Given the description of an element on the screen output the (x, y) to click on. 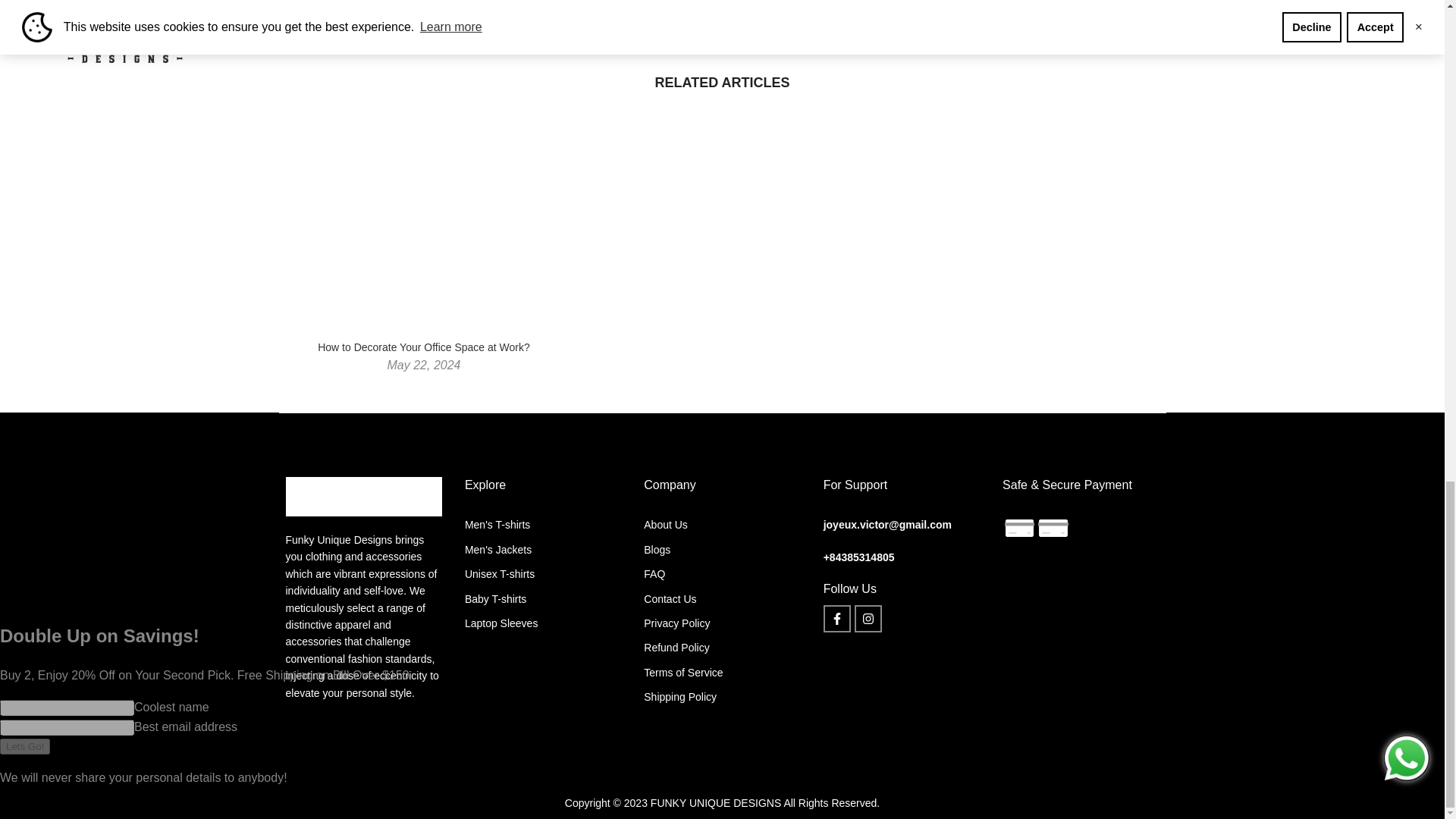
Follow on Instagram (868, 618)
Follow on Facebook (837, 618)
Back to Accessories (722, 17)
How to Decorate Your Office Space at Work? (797, 17)
